Given the description of an element on the screen output the (x, y) to click on. 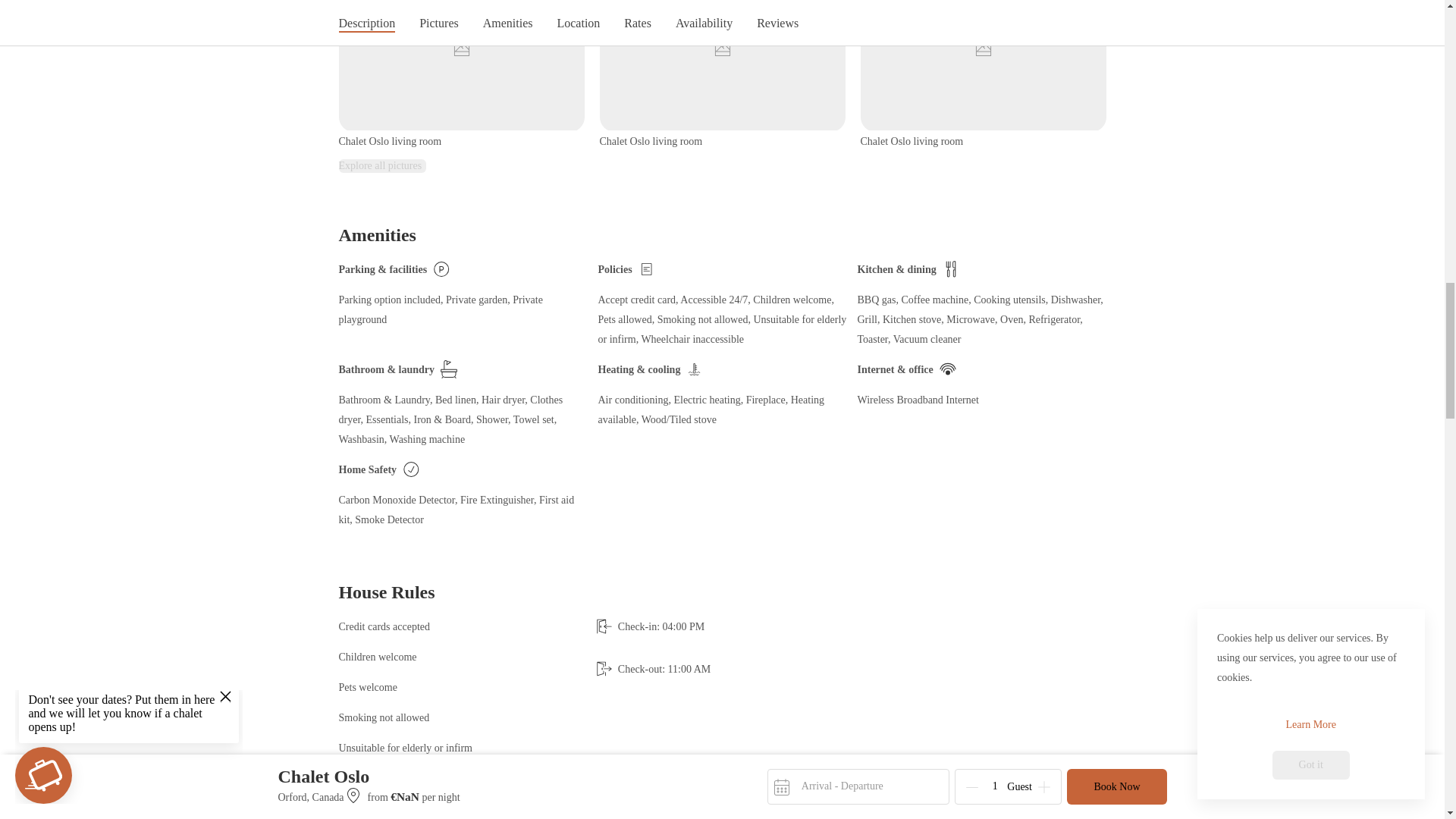
Explore all pictures (381, 165)
